Given the description of an element on the screen output the (x, y) to click on. 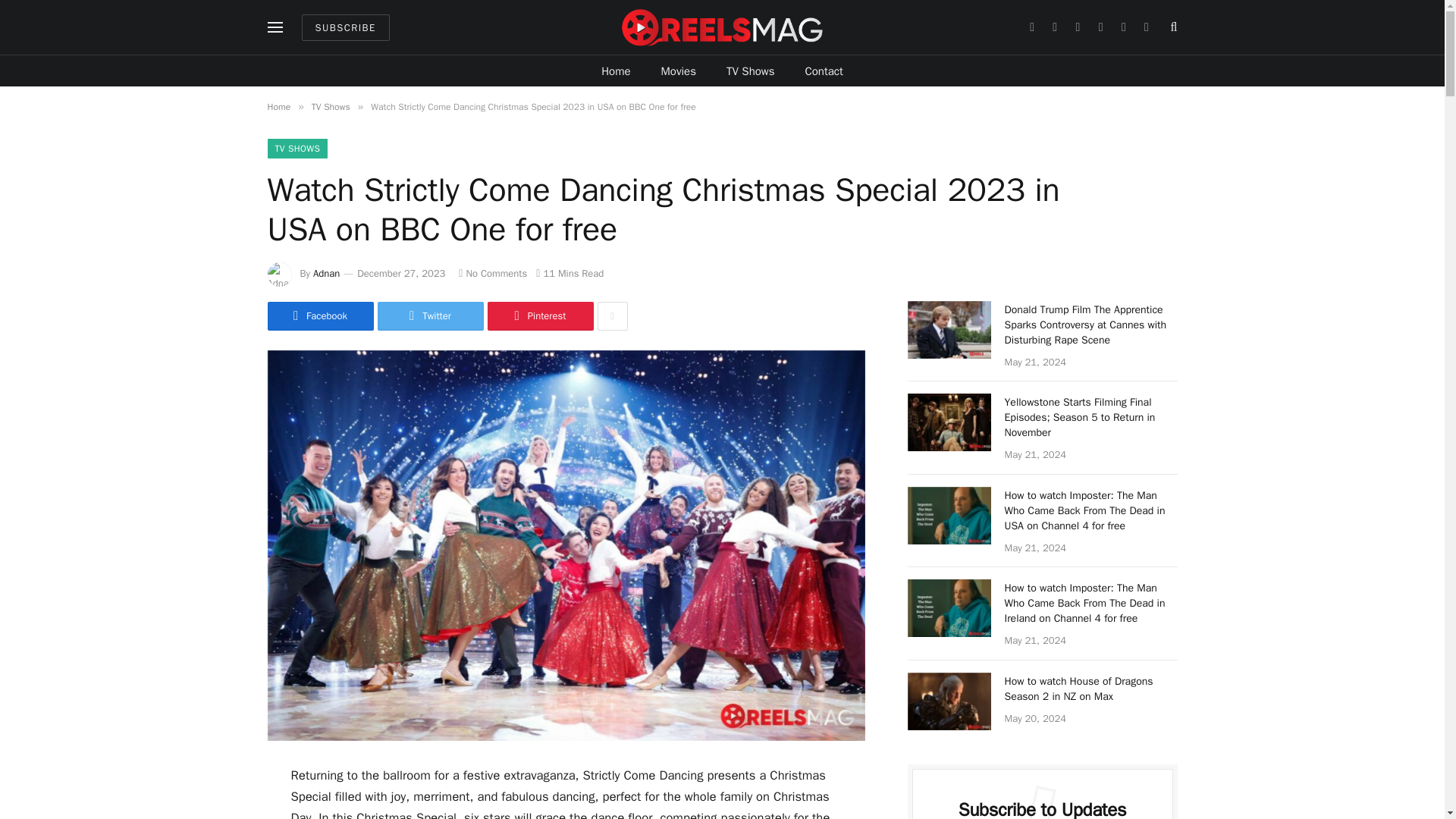
Share on Pinterest (539, 316)
Posts by Adnan (326, 273)
TV Shows (750, 70)
Adnan (326, 273)
ReelsMag (722, 27)
Twitter (430, 316)
Movies (678, 70)
Contact (824, 70)
TV SHOWS (296, 148)
Home (615, 70)
Home (277, 106)
SUBSCRIBE (345, 26)
Pinterest (539, 316)
No Comments (492, 273)
Share on Facebook (319, 316)
